Given the description of an element on the screen output the (x, y) to click on. 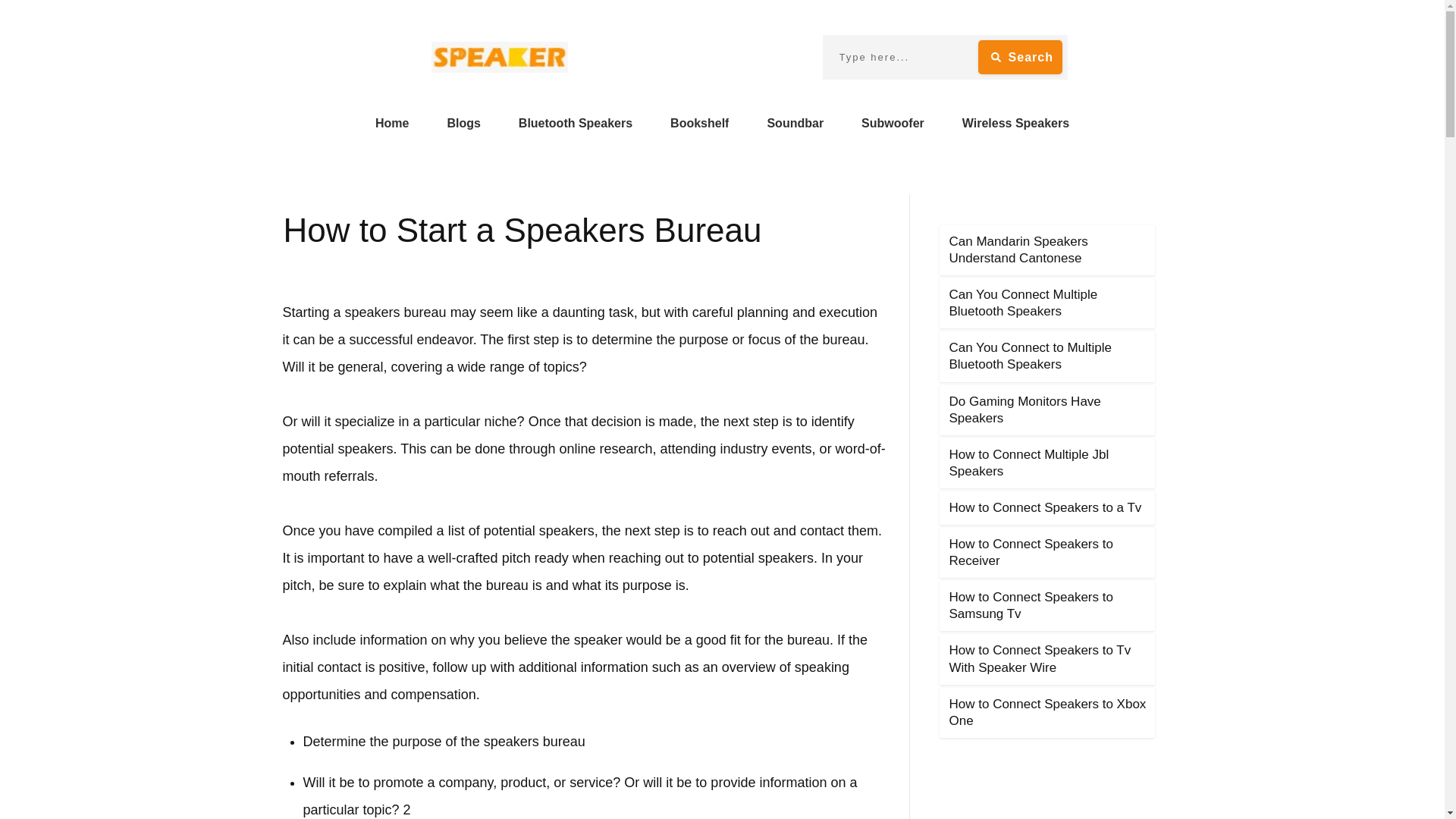
Bluetooth Speakers (574, 123)
Do Gaming Monitors Have Speakers (1024, 409)
Wireless Speakers (1015, 123)
How to Connect Speakers to Samsung Tv (1031, 604)
Subwoofer (892, 123)
How to Connect Speakers to Xbox One (1048, 712)
How to Connect Speakers to Tv With Speaker Wire (1040, 658)
Bookshelf (699, 123)
How to Connect Multiple Jbl Speakers (1029, 462)
How to Connect Speakers to Receiver (1031, 552)
